Given the description of an element on the screen output the (x, y) to click on. 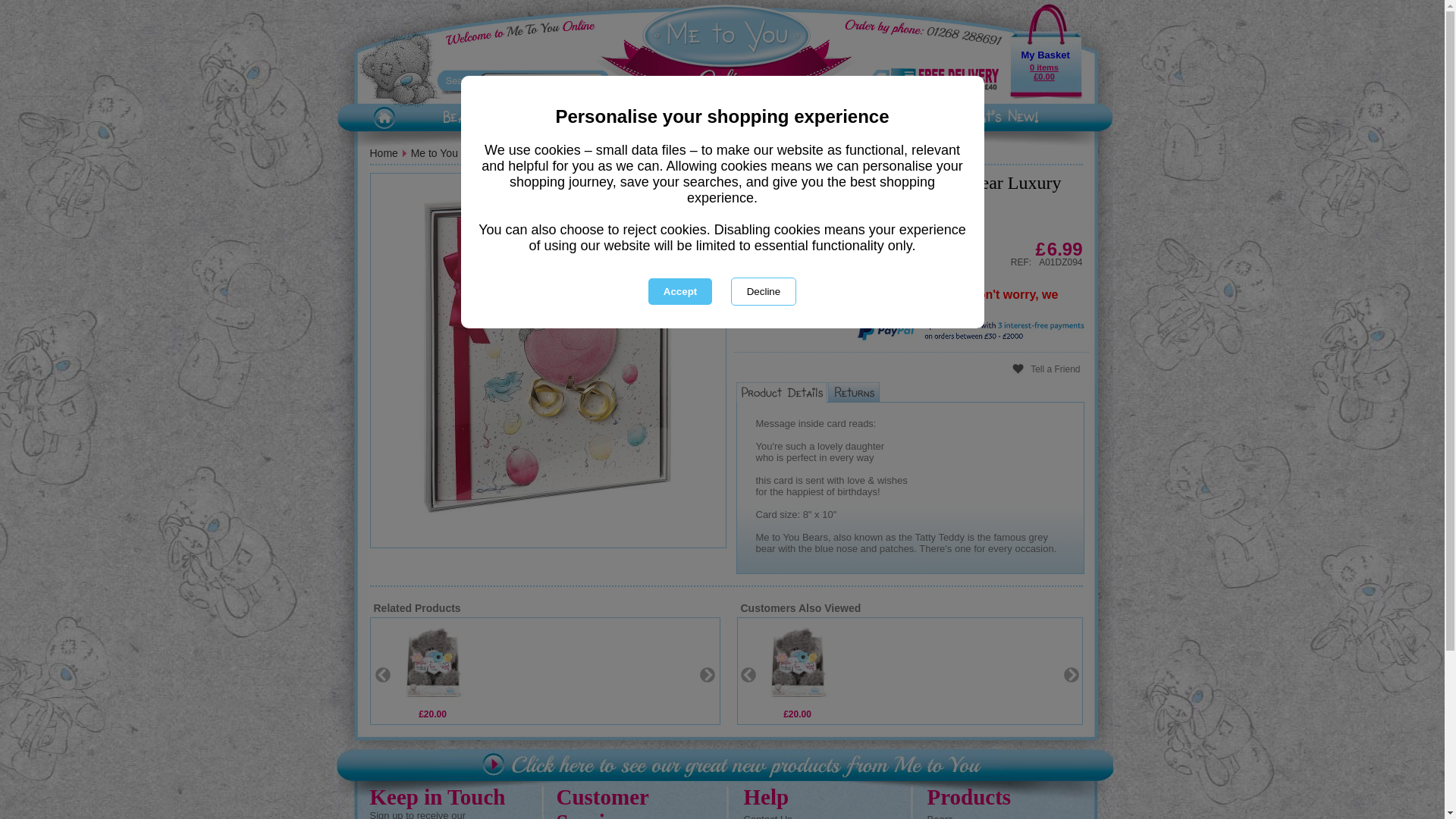
Search now.. (533, 80)
9" Holding Daughter Bunting Me to You Bear (797, 663)
Decline (763, 291)
Accept (679, 291)
Accept (679, 291)
9" Holding Daughter Bunting Me to You Bear (432, 663)
Decline (763, 291)
My Basket (1044, 54)
